Given the description of an element on the screen output the (x, y) to click on. 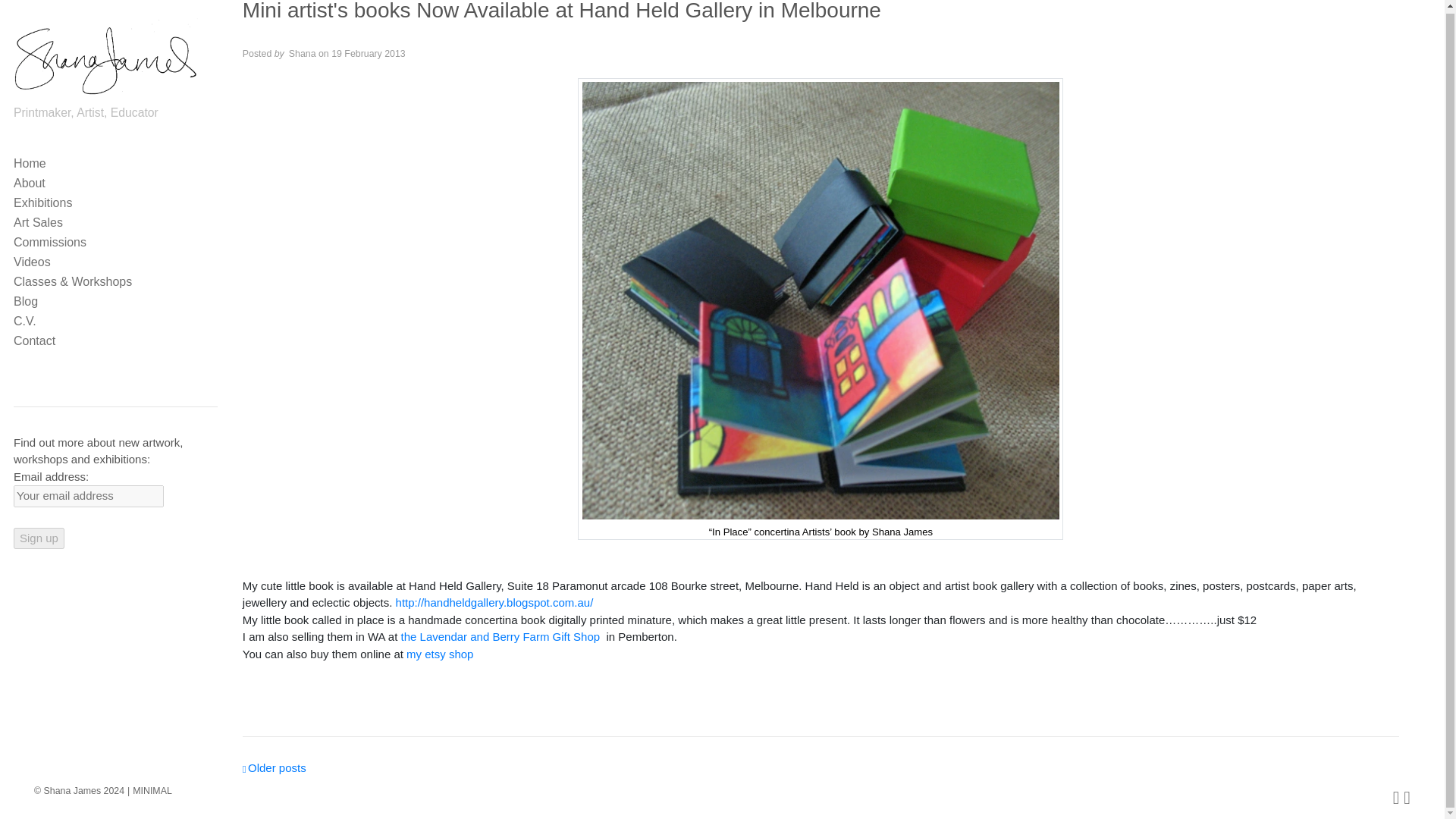
About (114, 181)
my etsy shop (439, 653)
MINIMAL (147, 787)
Art Sales (114, 220)
Blog (114, 300)
Contact (114, 339)
Videos (114, 260)
Shana James shares processes and stories (114, 300)
Shana (301, 53)
C.V. (114, 320)
